Given the description of an element on the screen output the (x, y) to click on. 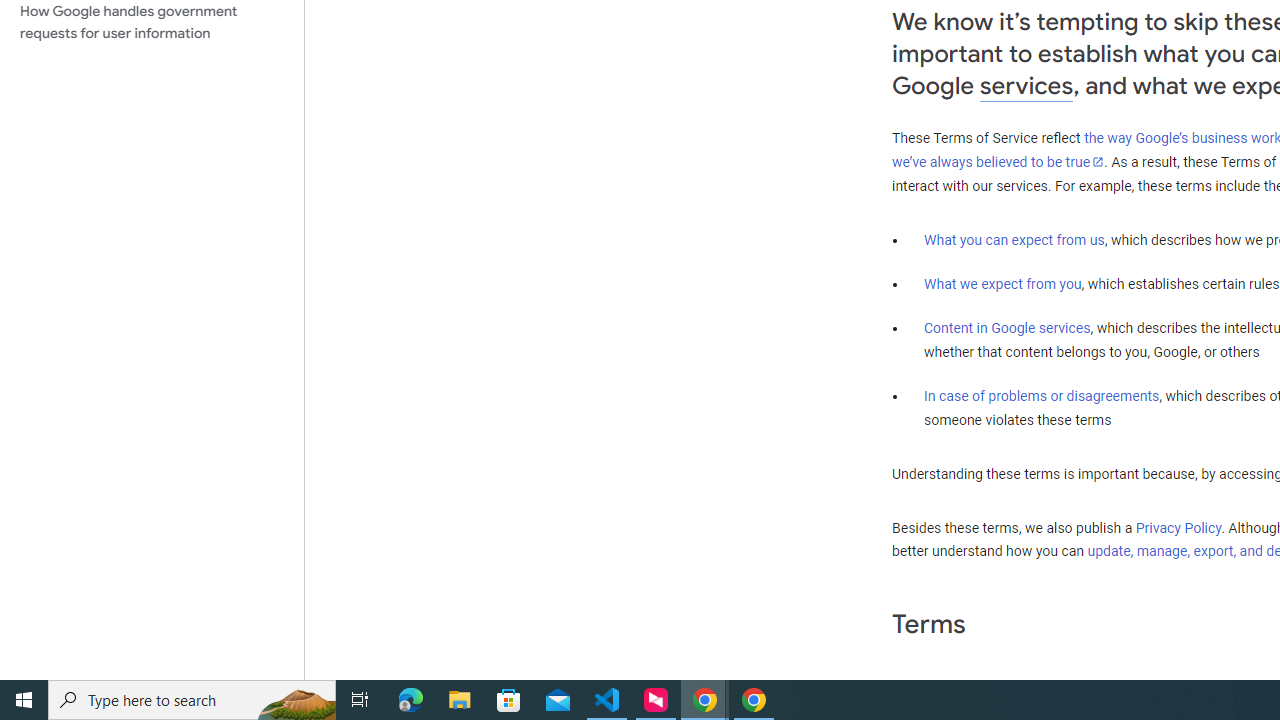
What we expect from you (1002, 284)
What you can expect from us (1014, 240)
